Given the description of an element on the screen output the (x, y) to click on. 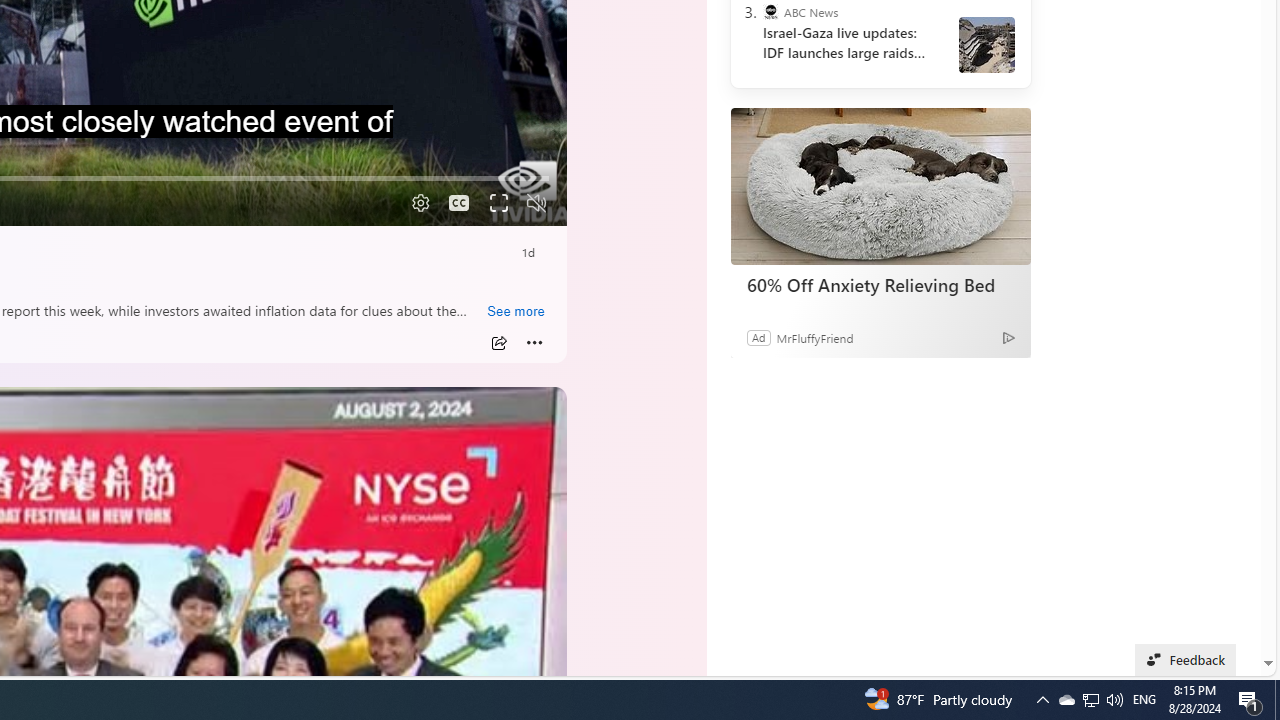
Fullscreen (497, 203)
Unmute (535, 203)
60% Off Anxiety Relieving Bed (879, 186)
More (534, 343)
